Given the description of an element on the screen output the (x, y) to click on. 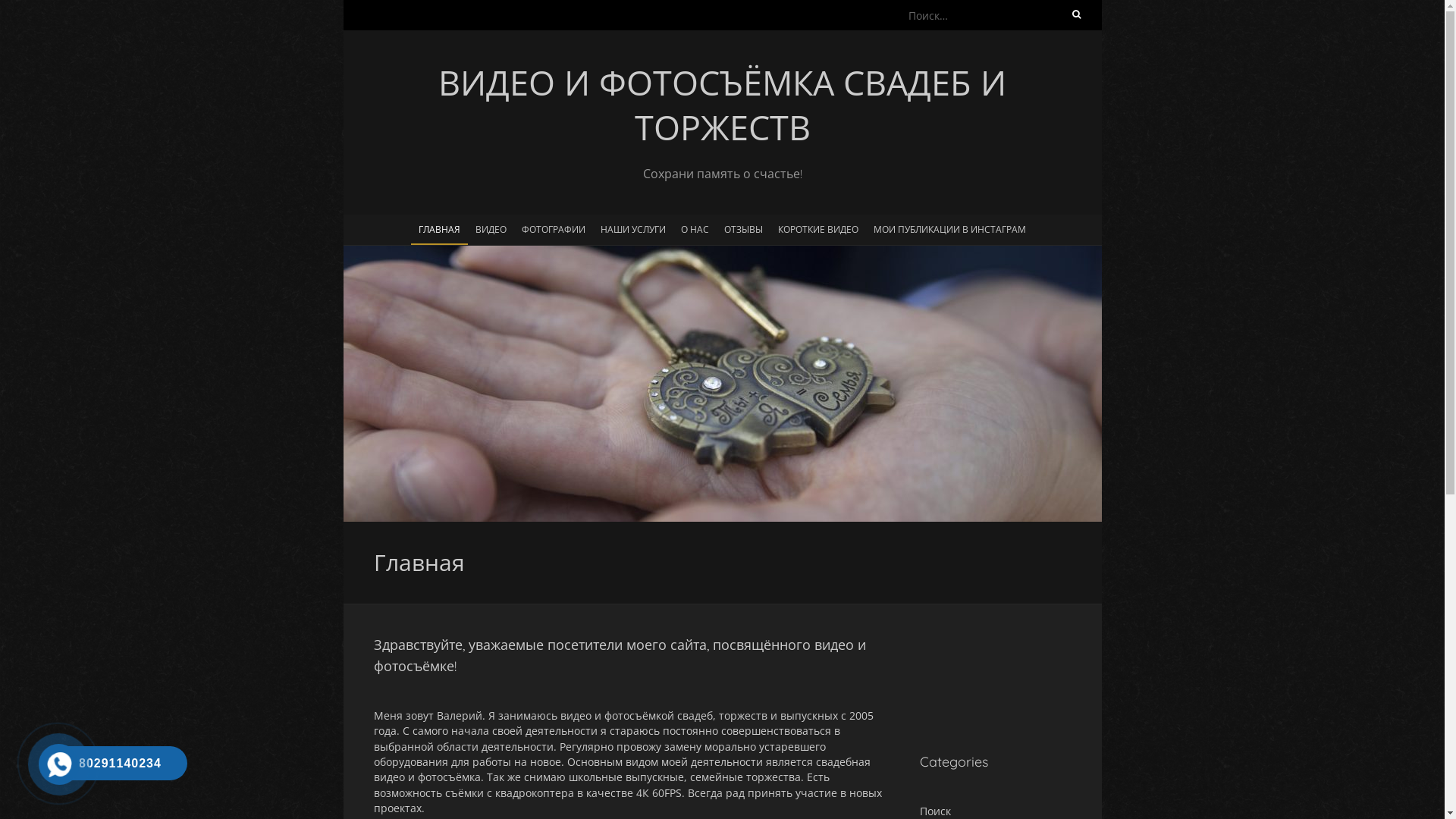
80291140234 Element type: text (116, 763)
